Given the description of an element on the screen output the (x, y) to click on. 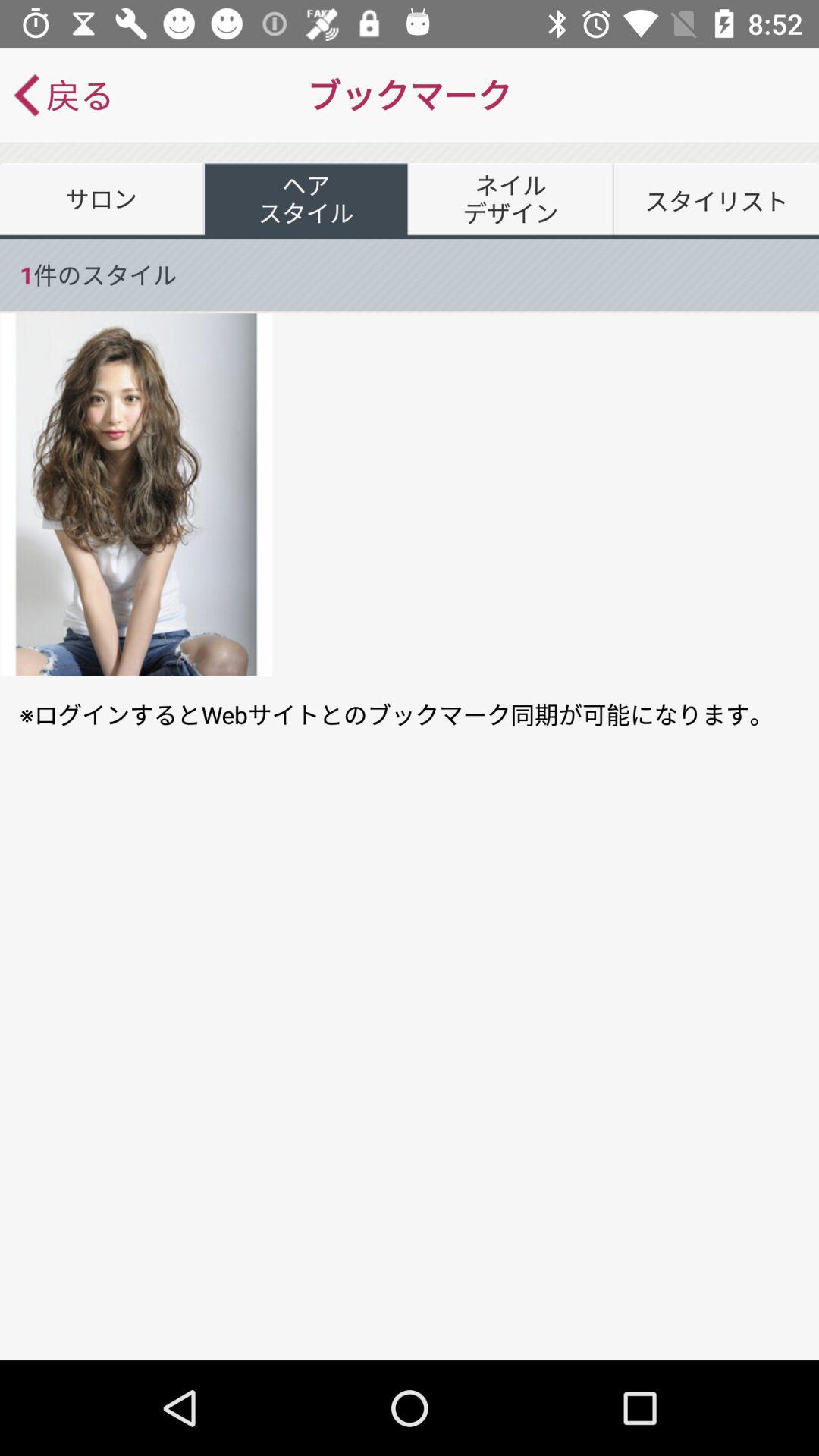
tap the icon at the center (409, 714)
